Given the description of an element on the screen output the (x, y) to click on. 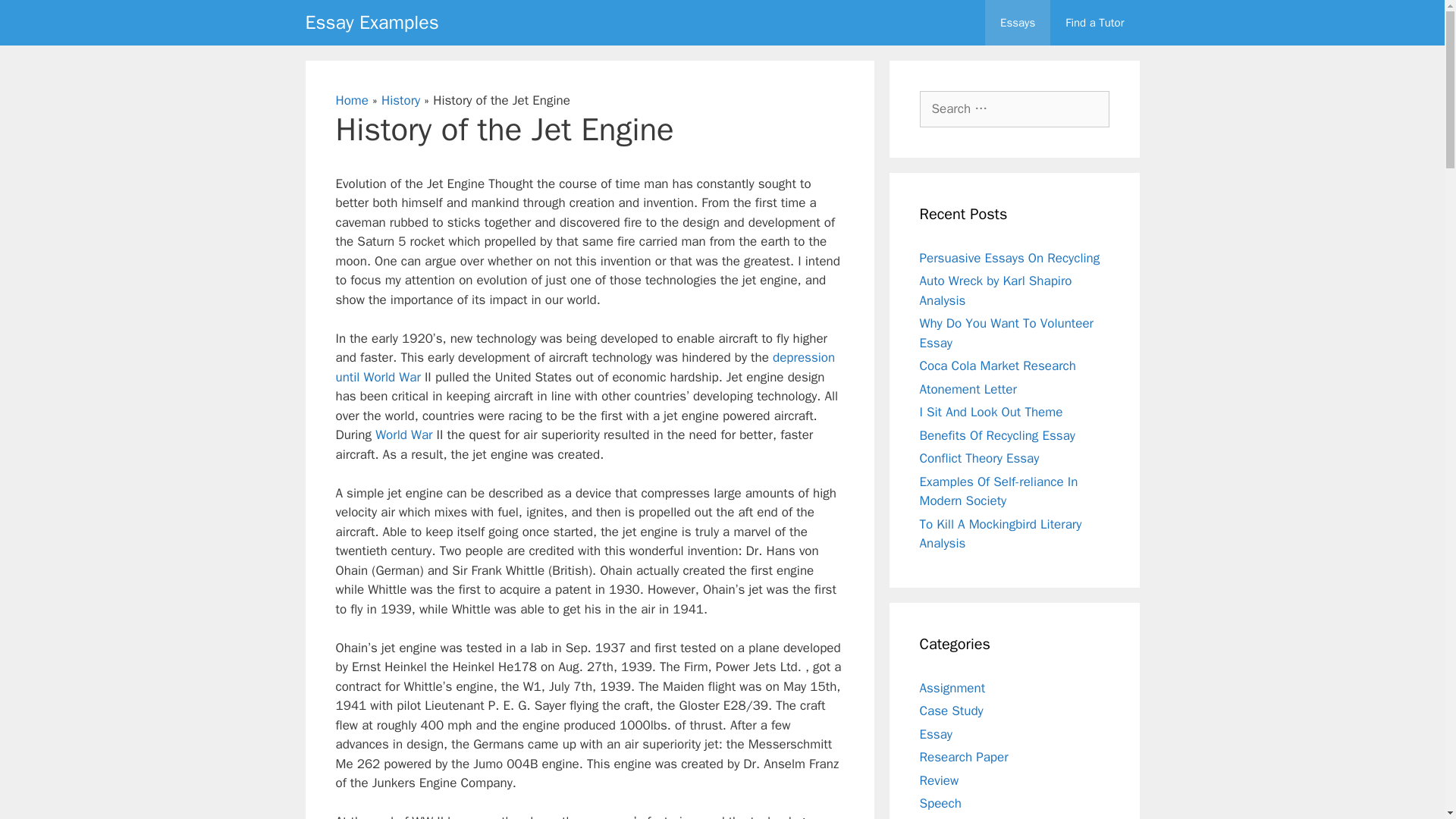
Search for: (1013, 108)
World War (403, 434)
Essay Examples (371, 22)
History (400, 100)
Home (351, 100)
Find a Tutor (1093, 22)
depression until World War (584, 366)
Essays (1017, 22)
